Given the description of an element on the screen output the (x, y) to click on. 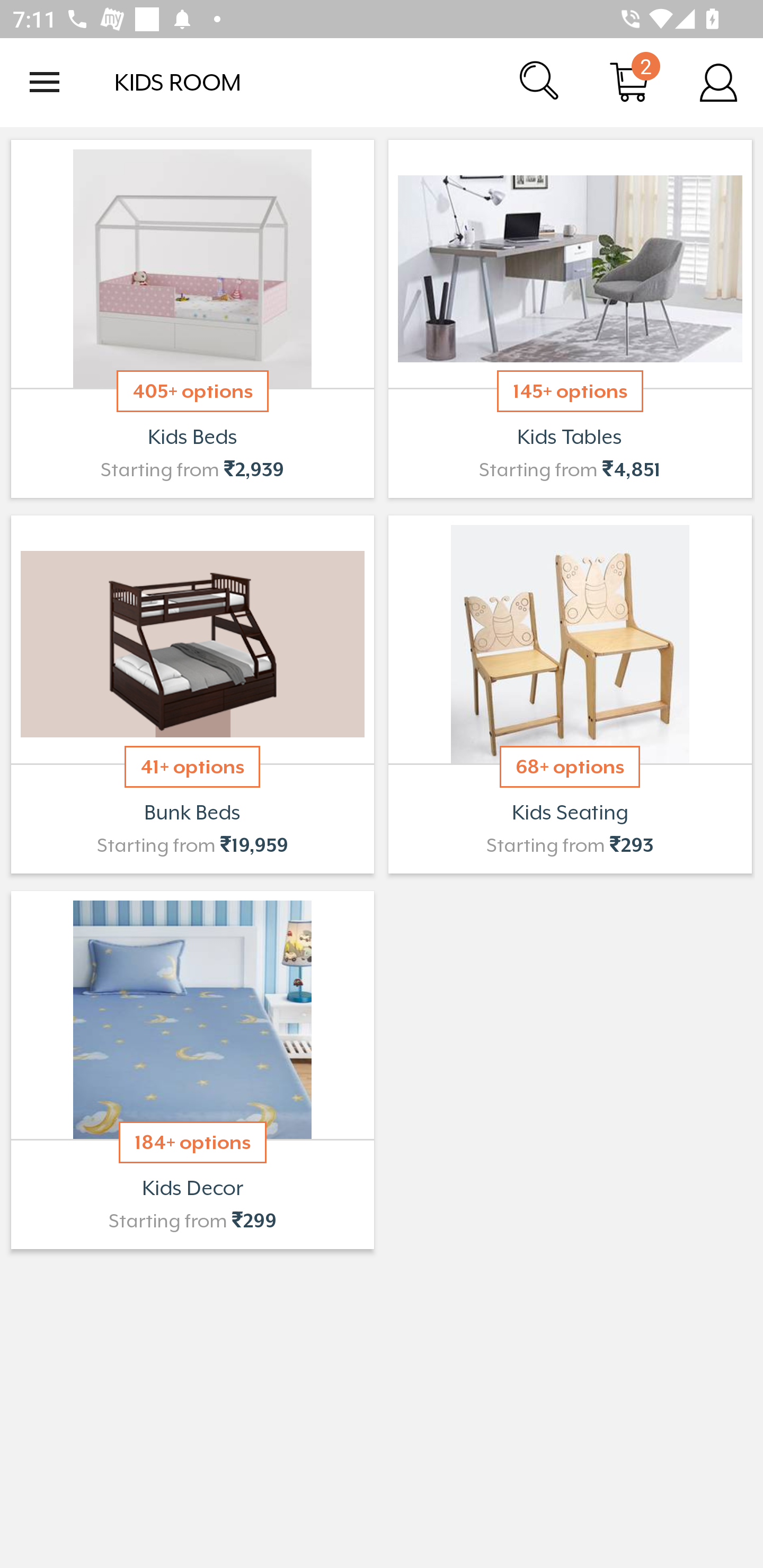
Open navigation drawer (44, 82)
Search (540, 81)
Cart (629, 81)
Account Details (718, 81)
405+ options Kids Beds Starting from  ₹2,939 (191, 318)
145+ options Kids Tables Starting from  ₹4,851 (570, 318)
41+ options Bunk Beds Starting from  ₹19,959 (191, 694)
68+ options Kids Seating Starting from  ₹293 (570, 694)
184+ options Kids Decor Starting from  ₹299 (191, 1069)
